Given the description of an element on the screen output the (x, y) to click on. 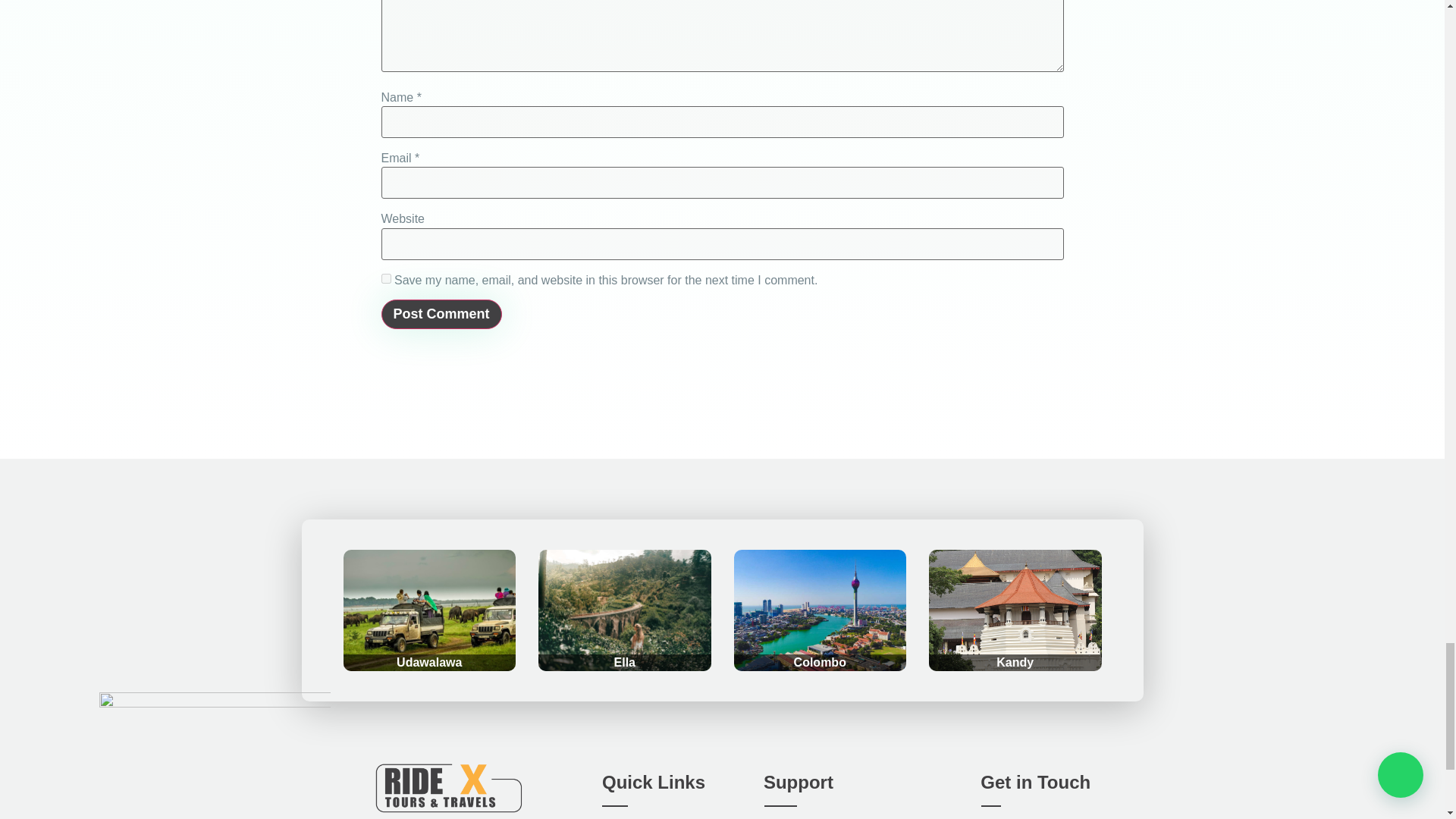
Post Comment (440, 314)
yes (385, 278)
Post Comment (440, 314)
